Given the description of an element on the screen output the (x, y) to click on. 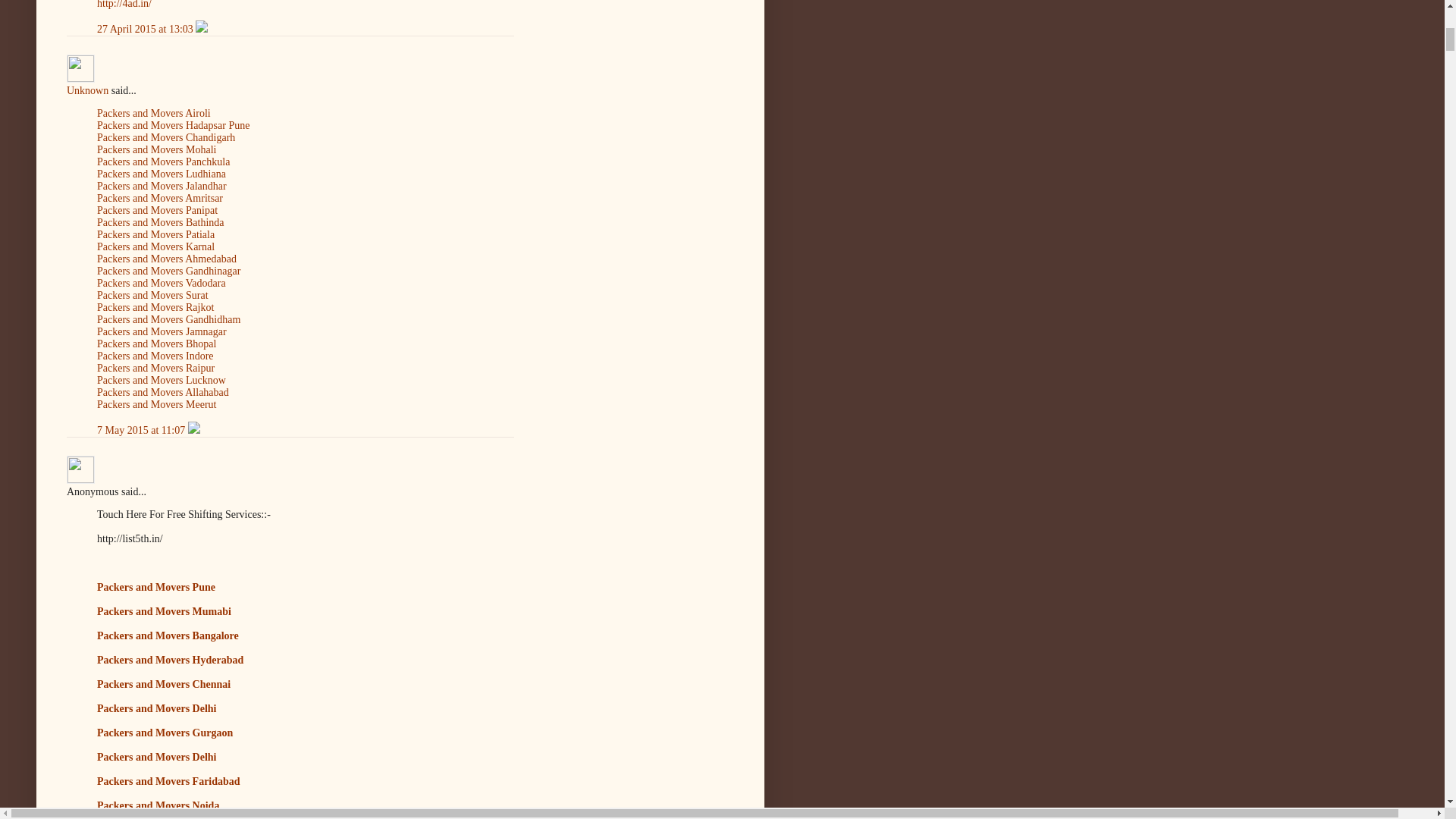
Packers and movers Hadapsar Pune (172, 125)
Packers and Movers Airoli (154, 112)
Packers and movers Airoli Navi Mumbai (154, 112)
27 April 2015 at 13:03 (146, 29)
Packers and Movers Amritsar (159, 197)
Packers and Movers Chandigarh (165, 137)
Unknown (86, 90)
Packers and Movers Mohali (156, 149)
Unknown (80, 68)
Packers and Movers Bathinda (160, 222)
Packers and Movers Hadapsar Pune (172, 125)
Packers and Movers Jalandhar (162, 185)
Packers and Movers Panipat (156, 210)
Packers and Movers Ludhiana (161, 173)
Delete Comment (201, 29)
